Given the description of an element on the screen output the (x, y) to click on. 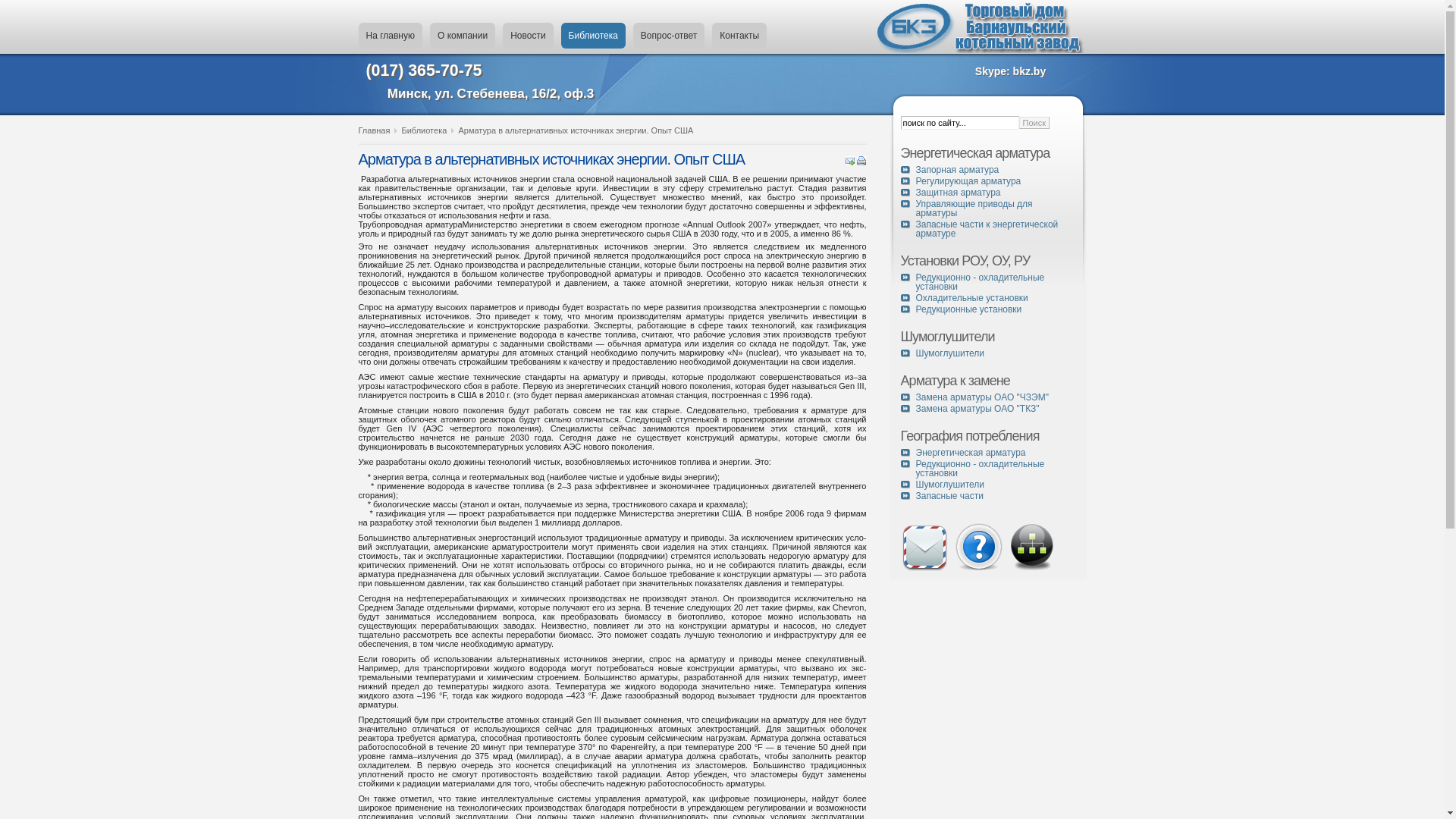
E-mail Element type: hover (849, 161)
  Element type: text (951, 568)
   Element type: text (1028, 568)
bkz.by Element type: text (1029, 71)
